Given the description of an element on the screen output the (x, y) to click on. 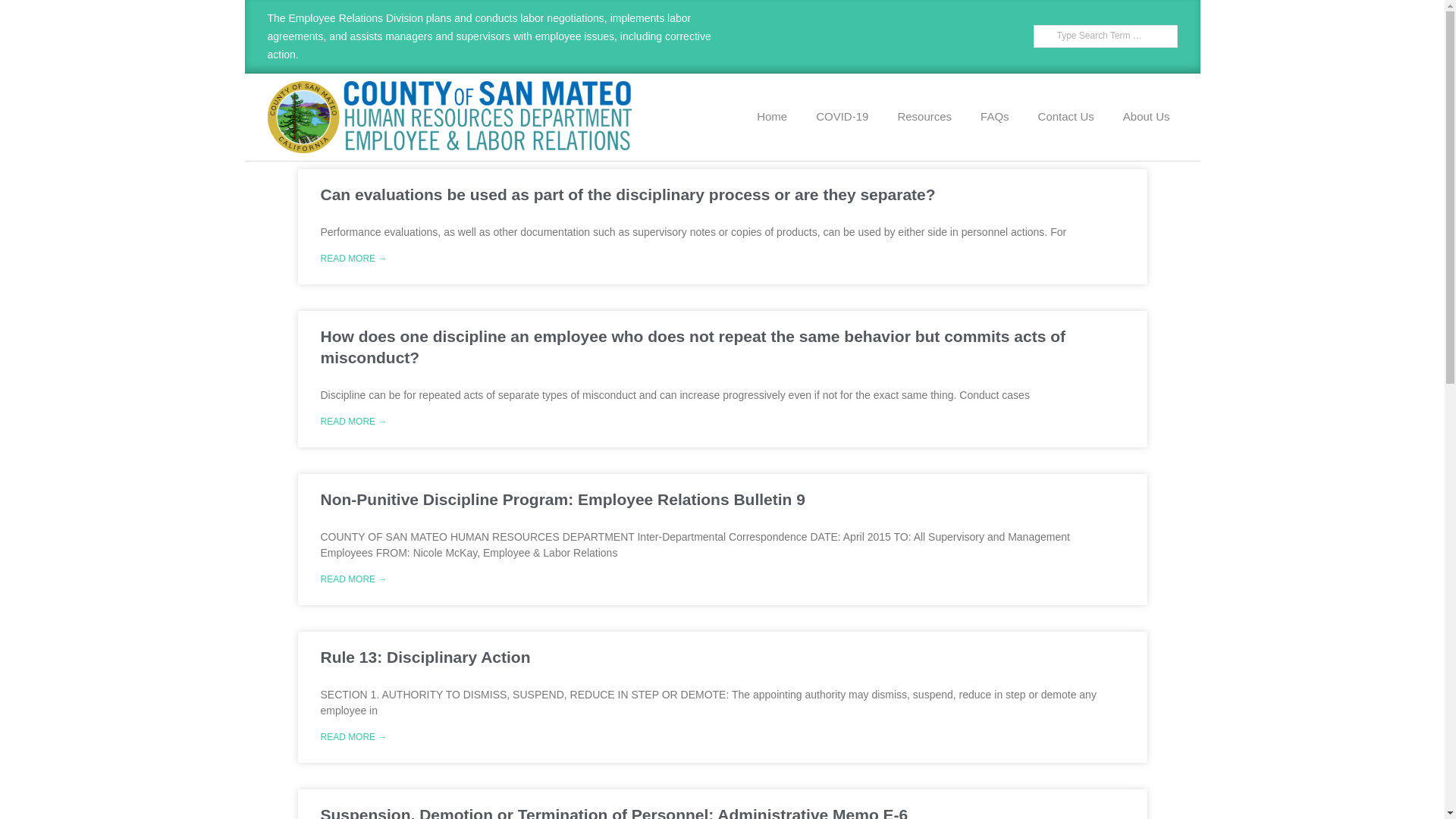
Resources (924, 116)
COVID-19 (842, 116)
Home (771, 116)
